Given the description of an element on the screen output the (x, y) to click on. 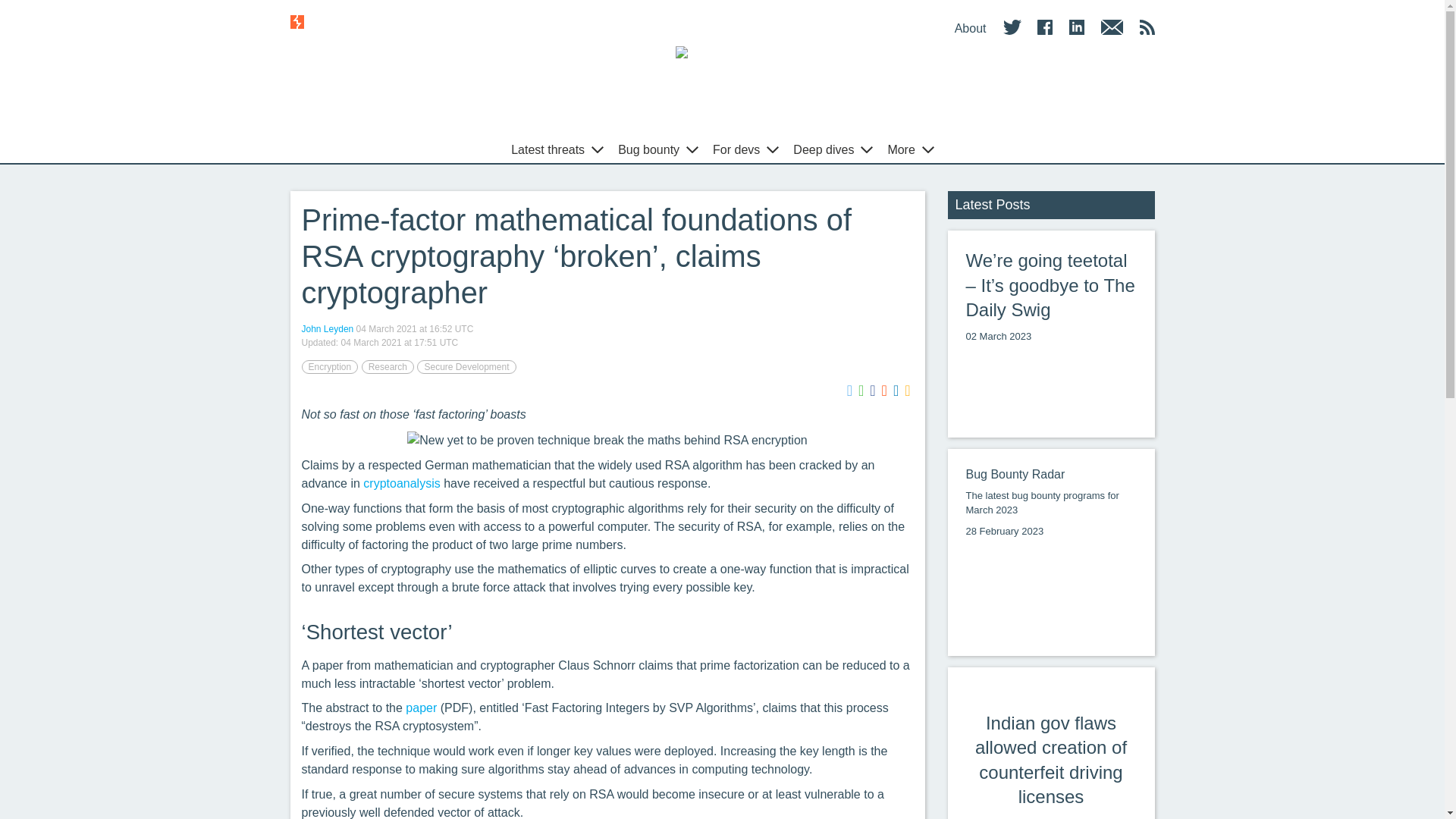
Secure Development (465, 366)
Research (387, 366)
Encryption (329, 366)
PortSwigger Ltd (606, 440)
John Leyden (327, 328)
